Given the description of an element on the screen output the (x, y) to click on. 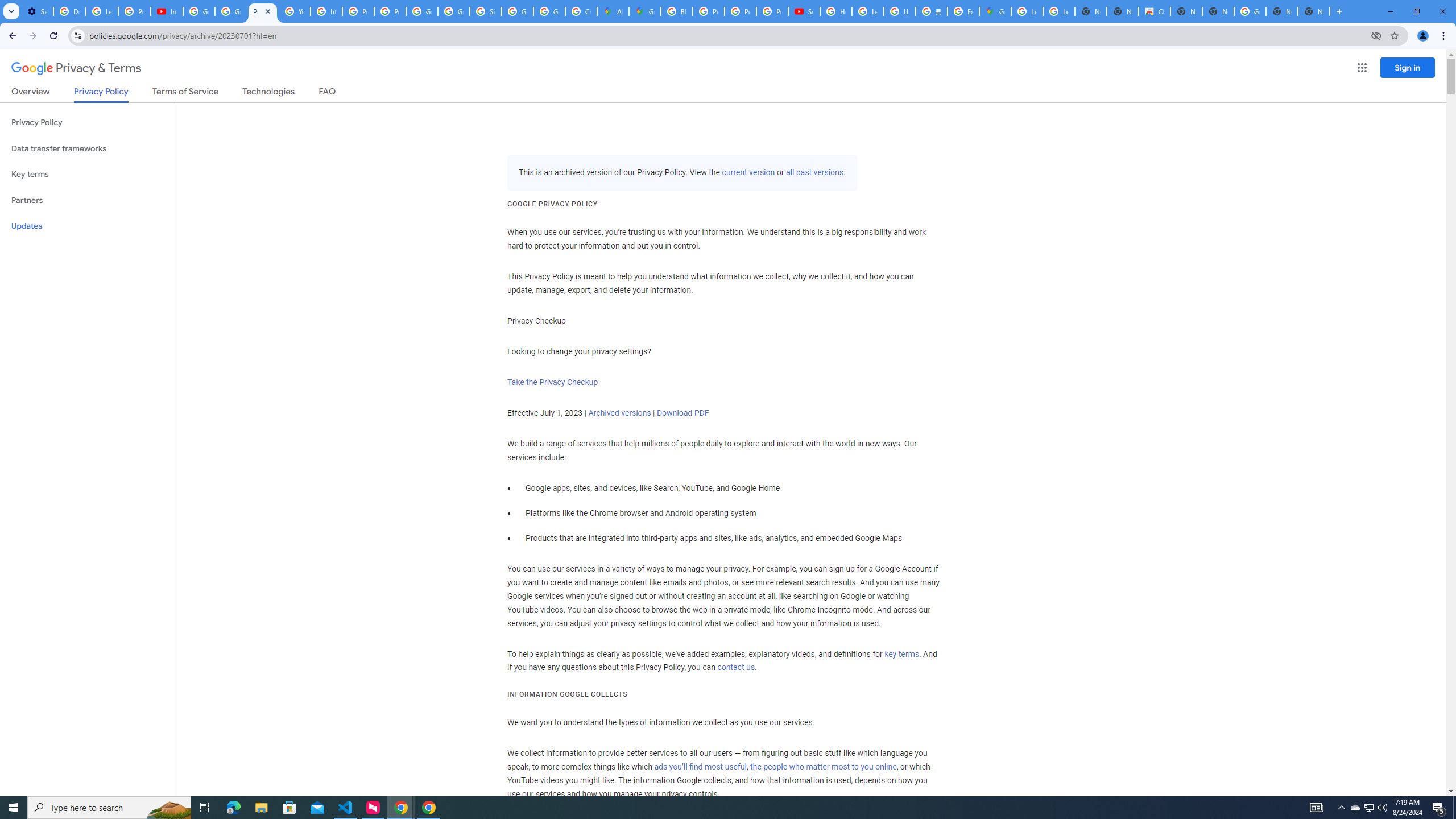
Take the Privacy Checkup (552, 381)
New Tab (1313, 11)
Updates (86, 225)
Settings - Customize profile (37, 11)
Google Maps (644, 11)
Privacy Help Center - Policies Help (740, 11)
the people who matter most to you online (822, 766)
Google Account Help (198, 11)
